Given the description of an element on the screen output the (x, y) to click on. 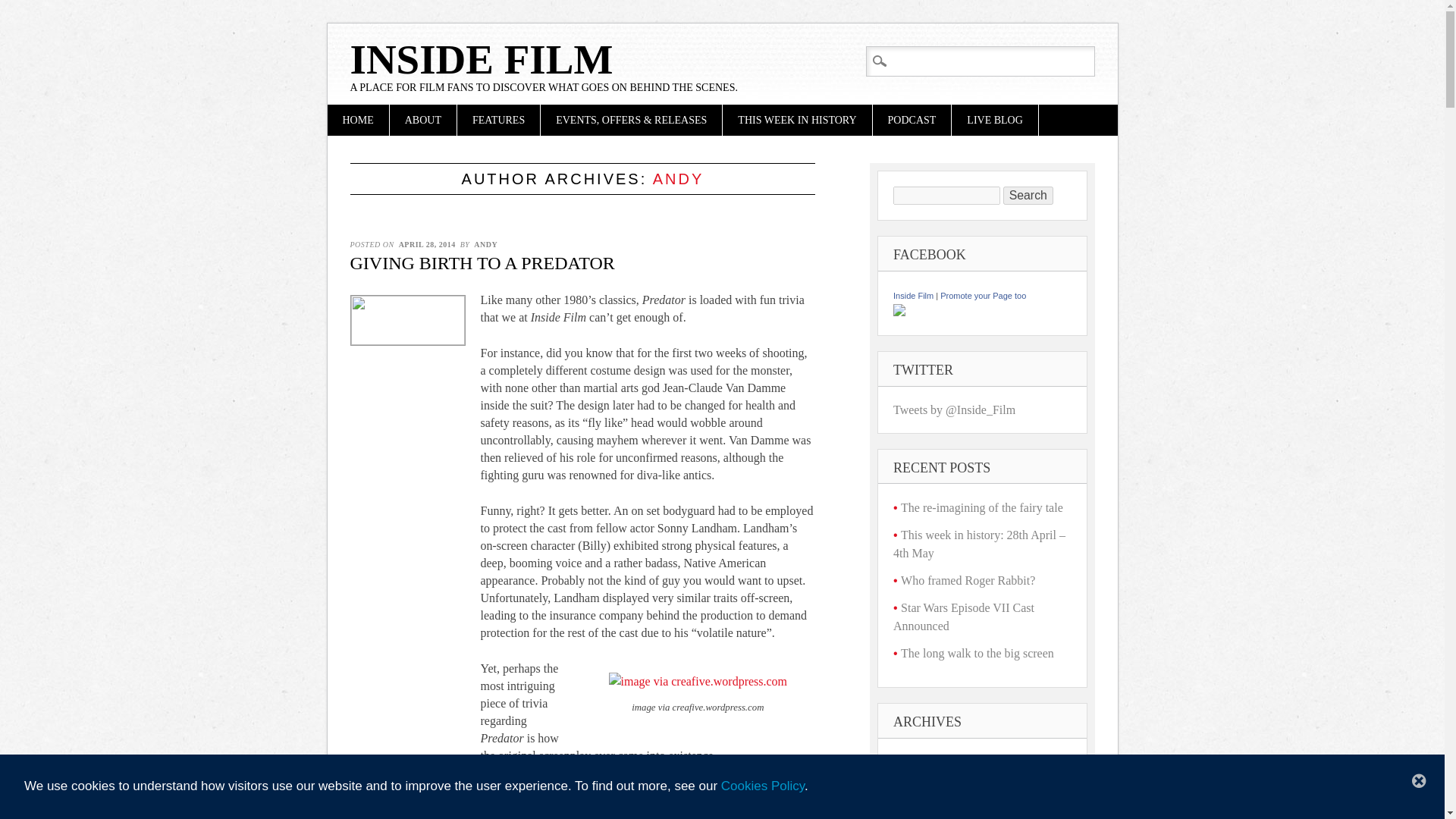
FEATURES (498, 119)
View all posts by Andy (485, 244)
Andy (678, 178)
Search (1027, 195)
Search (24, 9)
ABOUT (423, 119)
LIVE BLOG (995, 119)
Permalink to Giving birth to a Predator (482, 262)
ANDY (678, 178)
GIVING BIRTH TO A PREDATOR (482, 262)
HOME (357, 119)
APRIL 28, 2014 (427, 244)
ANDY (485, 244)
1:29 am (427, 244)
